Given the description of an element on the screen output the (x, y) to click on. 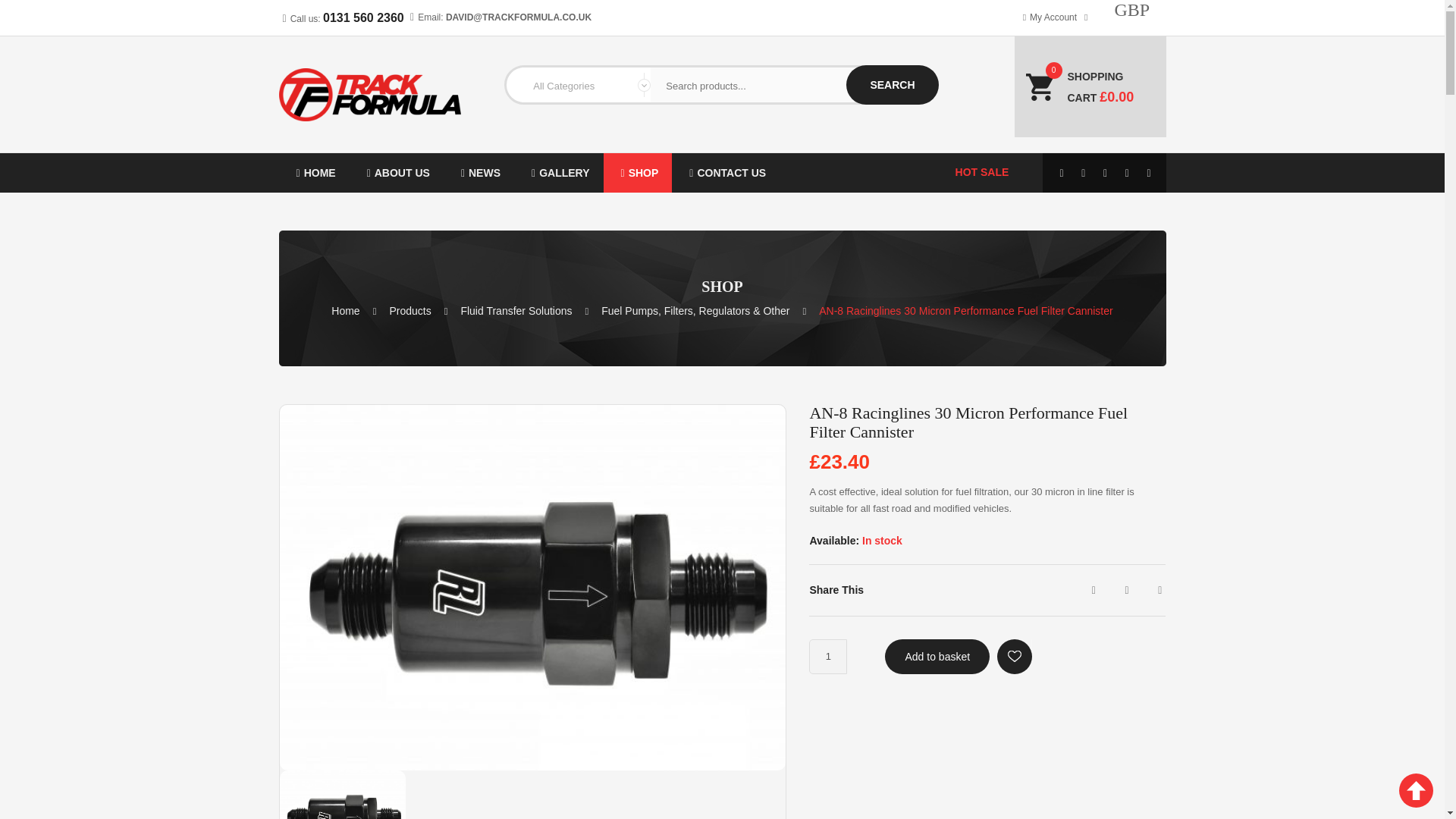
SEARCH (891, 84)
GBP (1140, 45)
HOME (314, 172)
FDF (314, 172)
Search (891, 84)
SHOP (638, 172)
ABOUT US (396, 172)
GALLERY (558, 172)
NEWS (478, 172)
1 (828, 656)
